Given the description of an element on the screen output the (x, y) to click on. 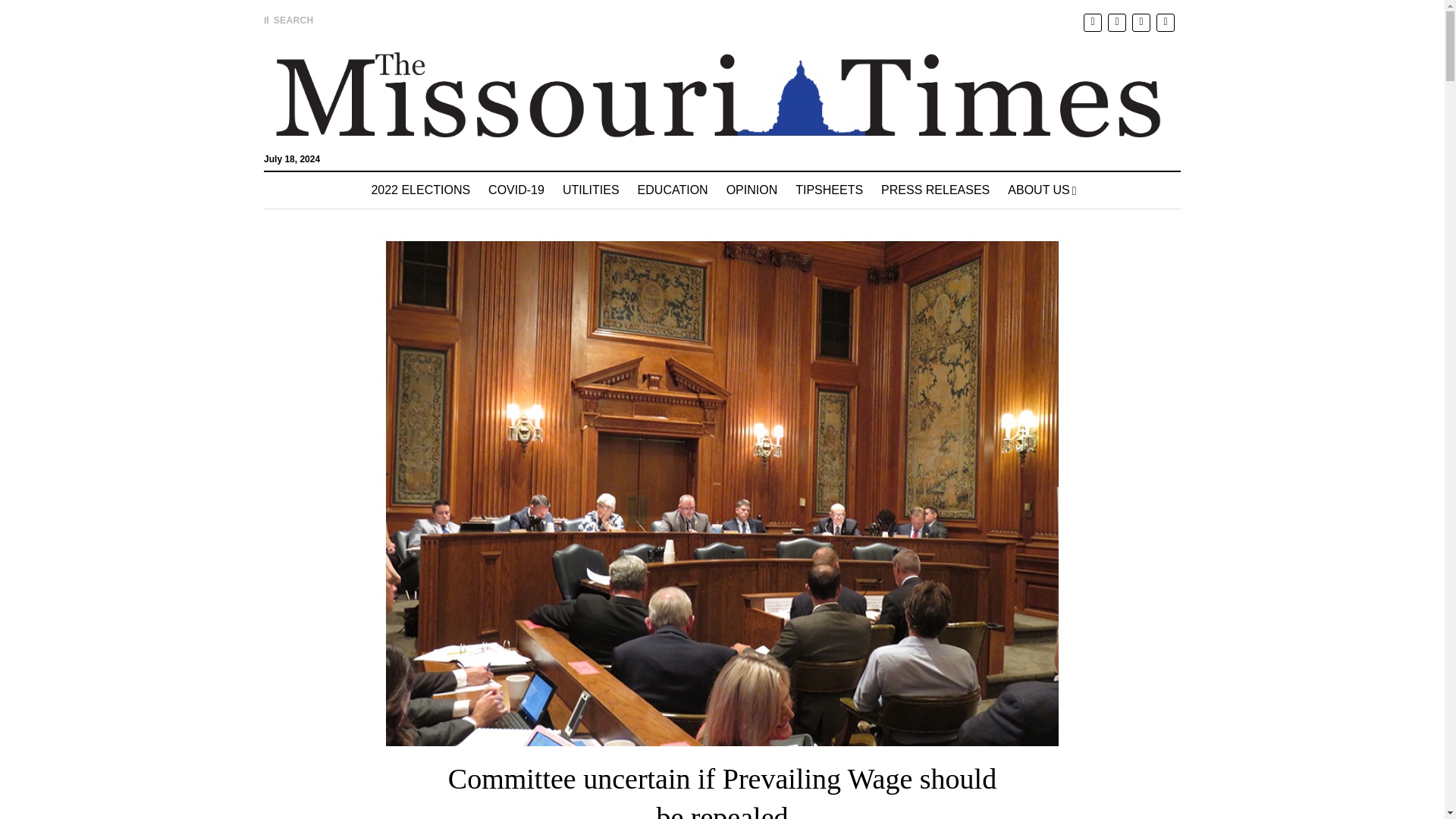
UTILITIES (590, 189)
OPINION (752, 189)
COVID-19 (516, 189)
twitter (1092, 21)
EDUCATION (672, 189)
PRESS RELEASES (935, 189)
youtube (1165, 21)
TIPSHEETS (829, 189)
2022 ELECTIONS (420, 189)
Search (945, 129)
SEARCH (288, 20)
ABOUT US (1041, 189)
instagram (1140, 21)
